Given the description of an element on the screen output the (x, y) to click on. 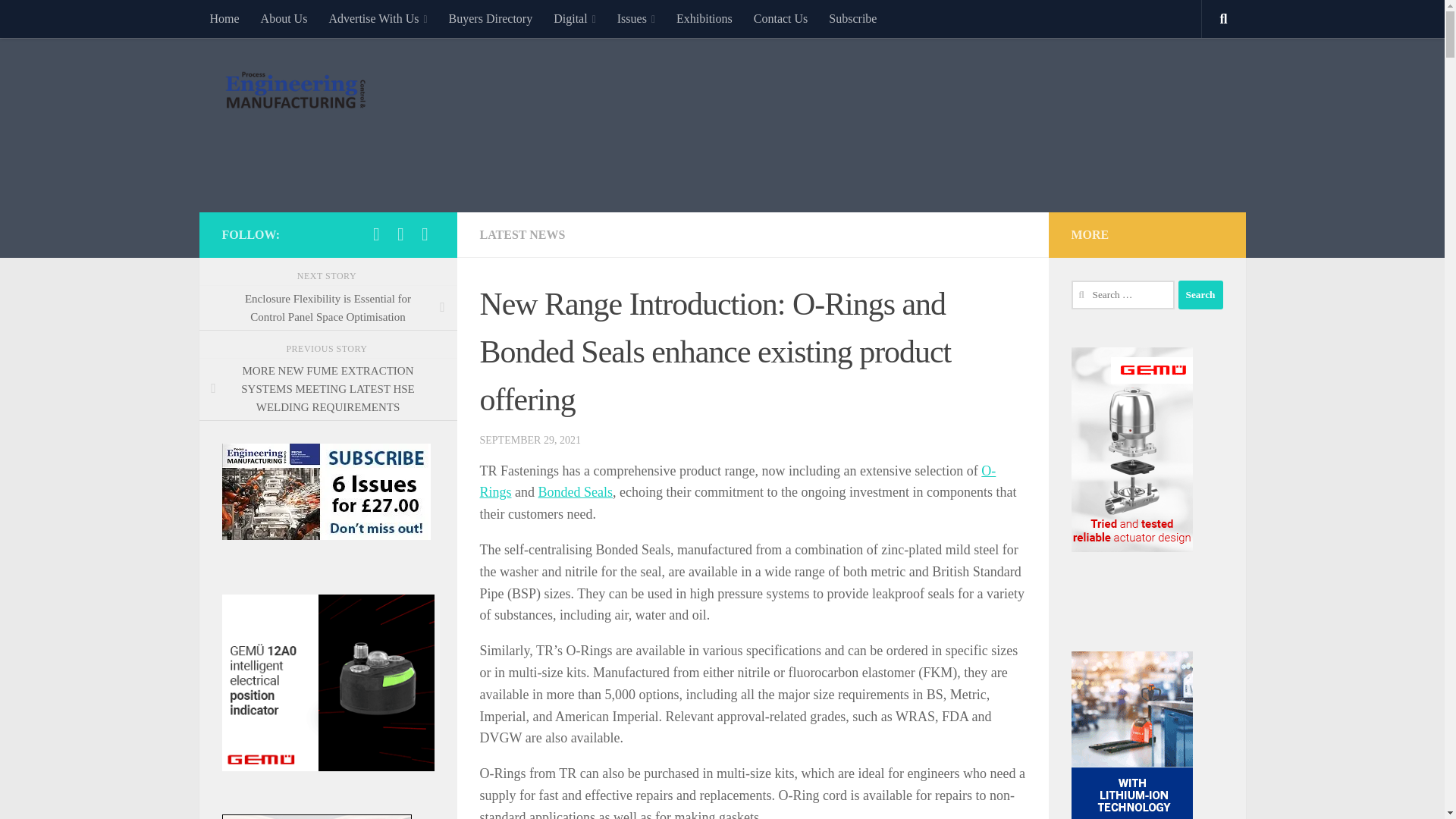
Advertise With Us (377, 18)
Digital (575, 18)
Follow us on Email (423, 234)
Skip to content (59, 20)
Issues (636, 18)
Search (1200, 294)
About Us (284, 18)
Buyers Directory (490, 18)
Home (223, 18)
Follow us on Phone (400, 234)
Search (1200, 294)
Follow us on Twitter (375, 234)
